Given the description of an element on the screen output the (x, y) to click on. 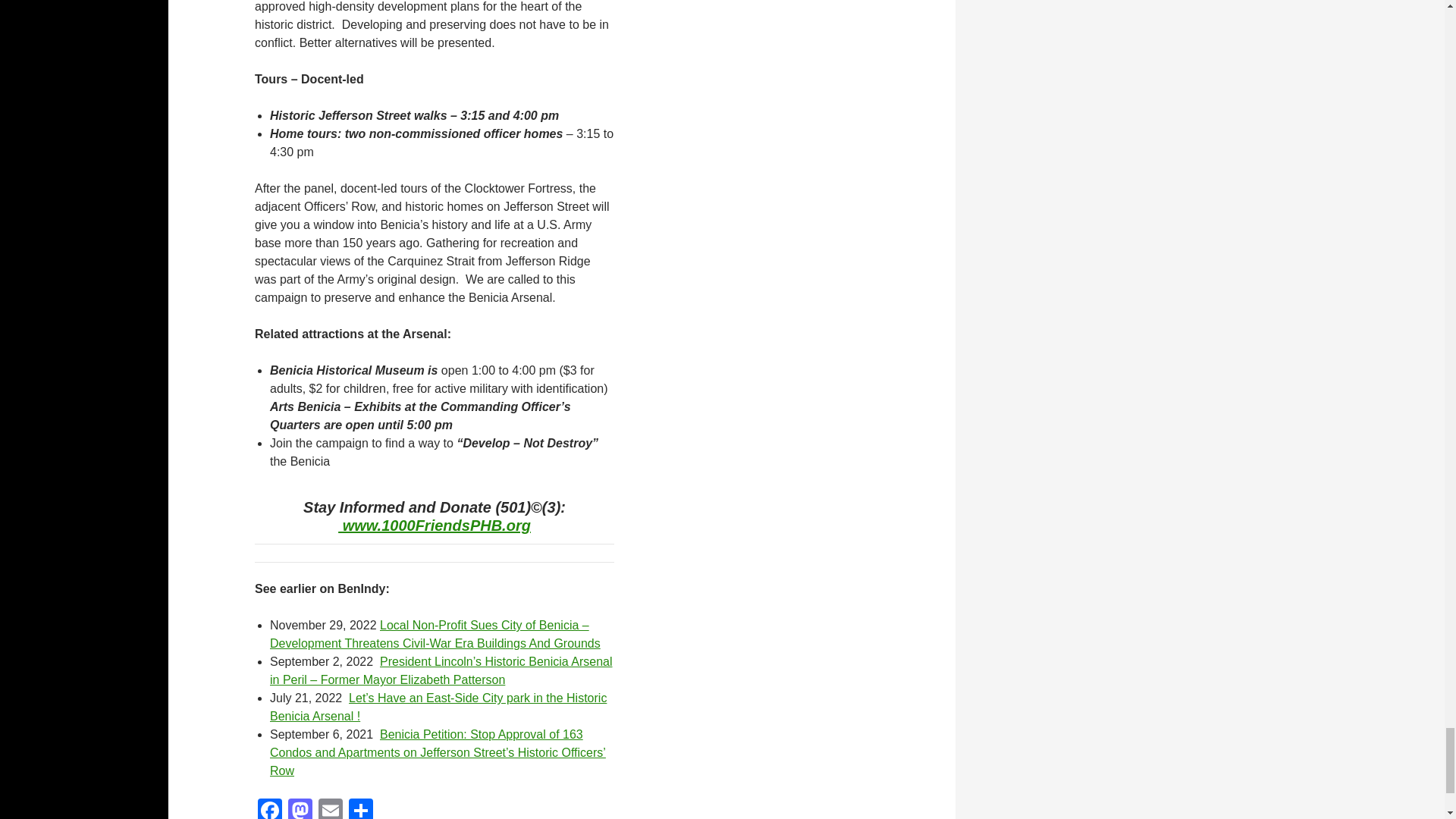
Email (330, 808)
Mastodon (300, 808)
Facebook (269, 808)
